Given the description of an element on the screen output the (x, y) to click on. 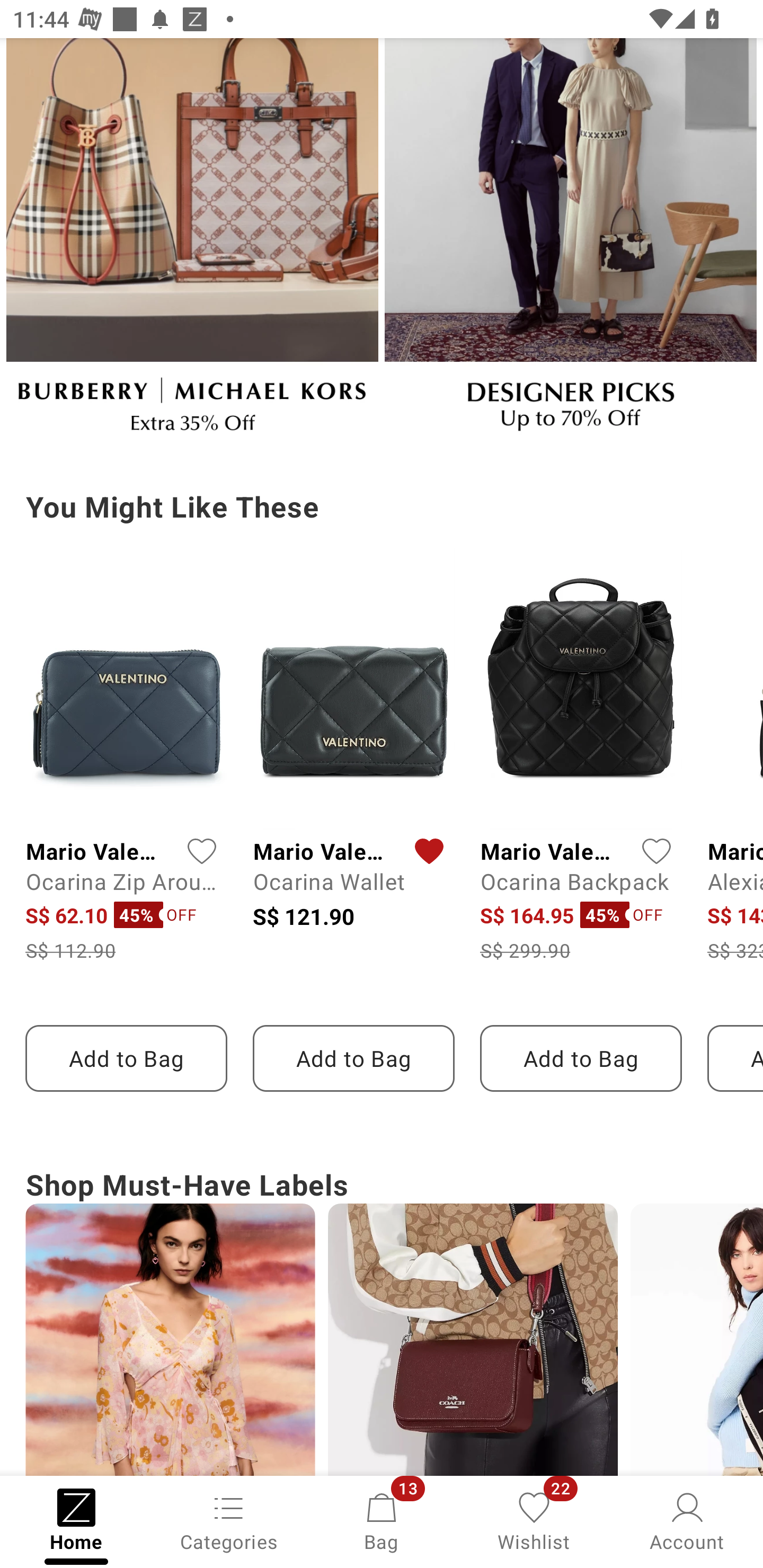
Campaign banner (381, 242)
Campaign banner (570, 242)
Add to Bag (126, 1058)
Add to Bag (353, 1058)
Add to Bag (580, 1058)
Campaign banner (170, 1339)
Campaign banner (473, 1339)
Categories (228, 1519)
Bag, 13 new notifications Bag (381, 1519)
Wishlist, 22 new notifications Wishlist (533, 1519)
Account (686, 1519)
